Given the description of an element on the screen output the (x, y) to click on. 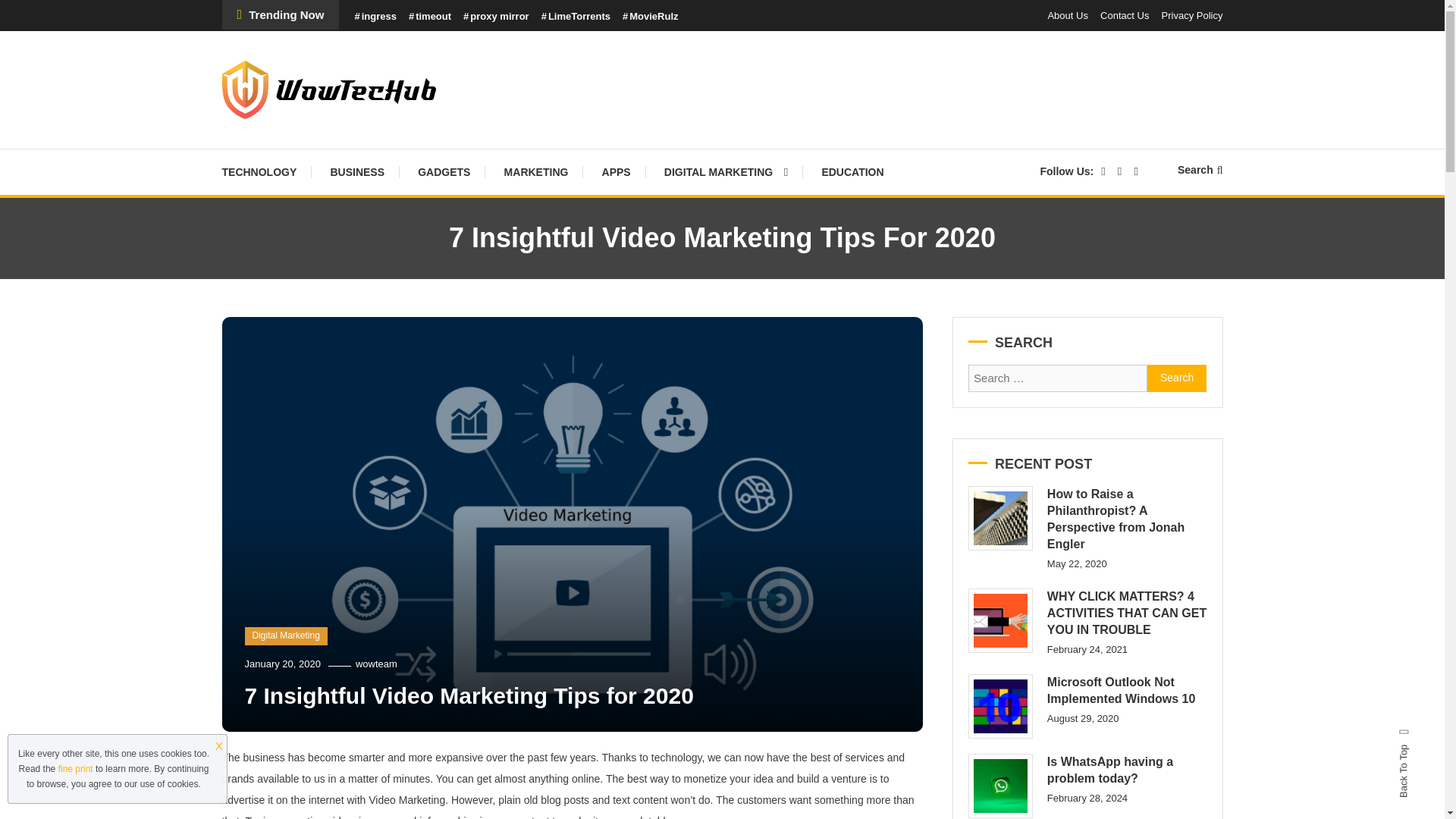
Privacy Policy (1192, 15)
APPS (616, 171)
GADGETS (443, 171)
Contact Us (1124, 15)
MovieRulz (650, 16)
MARKETING (536, 171)
WHY CLICK MATTERS? 4 ACTIVITIES THAT CAN GET YOU IN TROUBLE (1000, 620)
EDUCATION (852, 171)
Search (768, 432)
Get the Latest Technology Updates (449, 138)
About Us (1066, 15)
TECHNOLOGY (266, 171)
wowteam (376, 663)
Search (1200, 169)
